Given the description of an element on the screen output the (x, y) to click on. 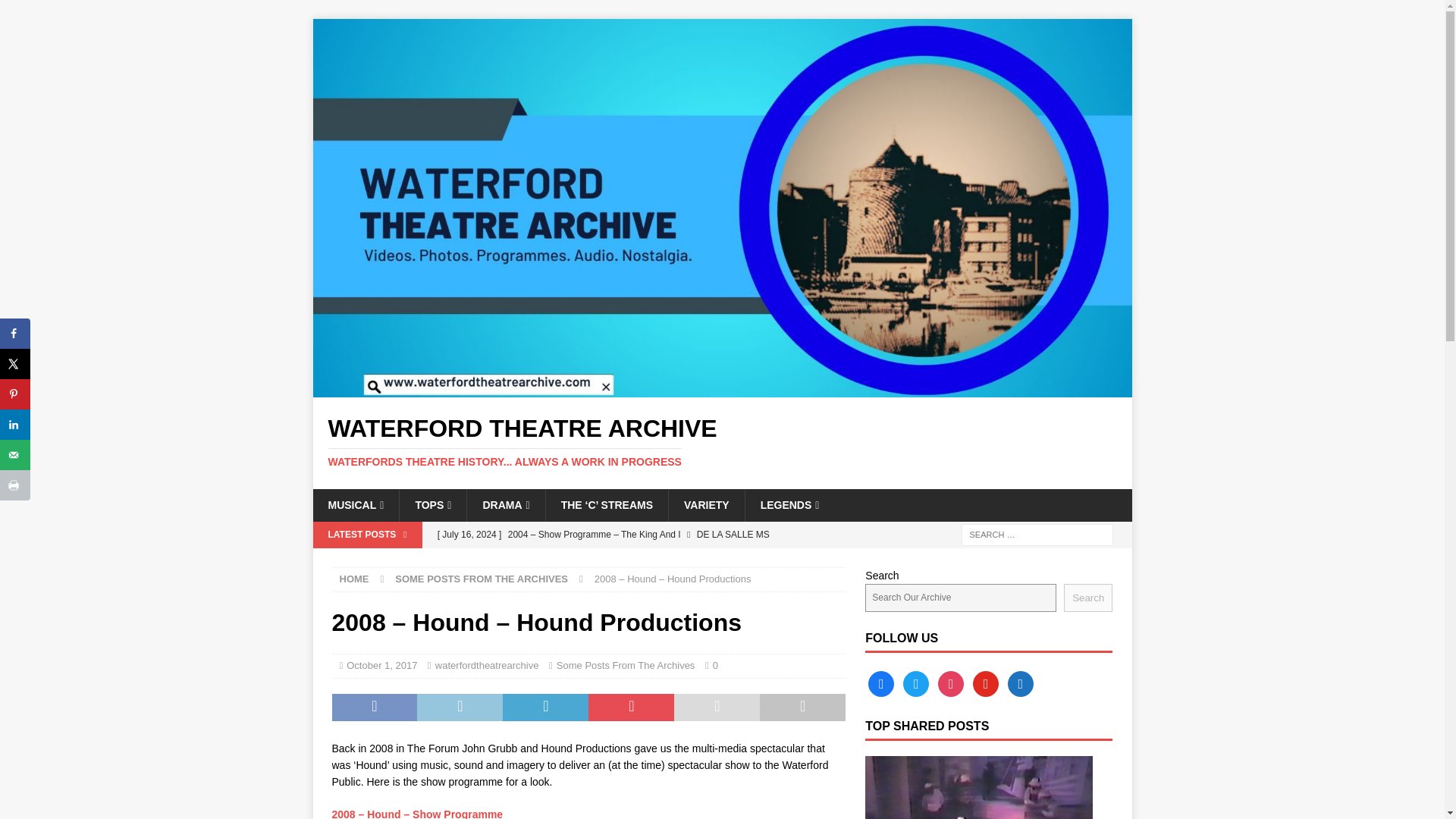
Waterford Theatre Archive (721, 441)
Waterford Theatre Archive (722, 388)
MUSICAL (355, 504)
